Given the description of an element on the screen output the (x, y) to click on. 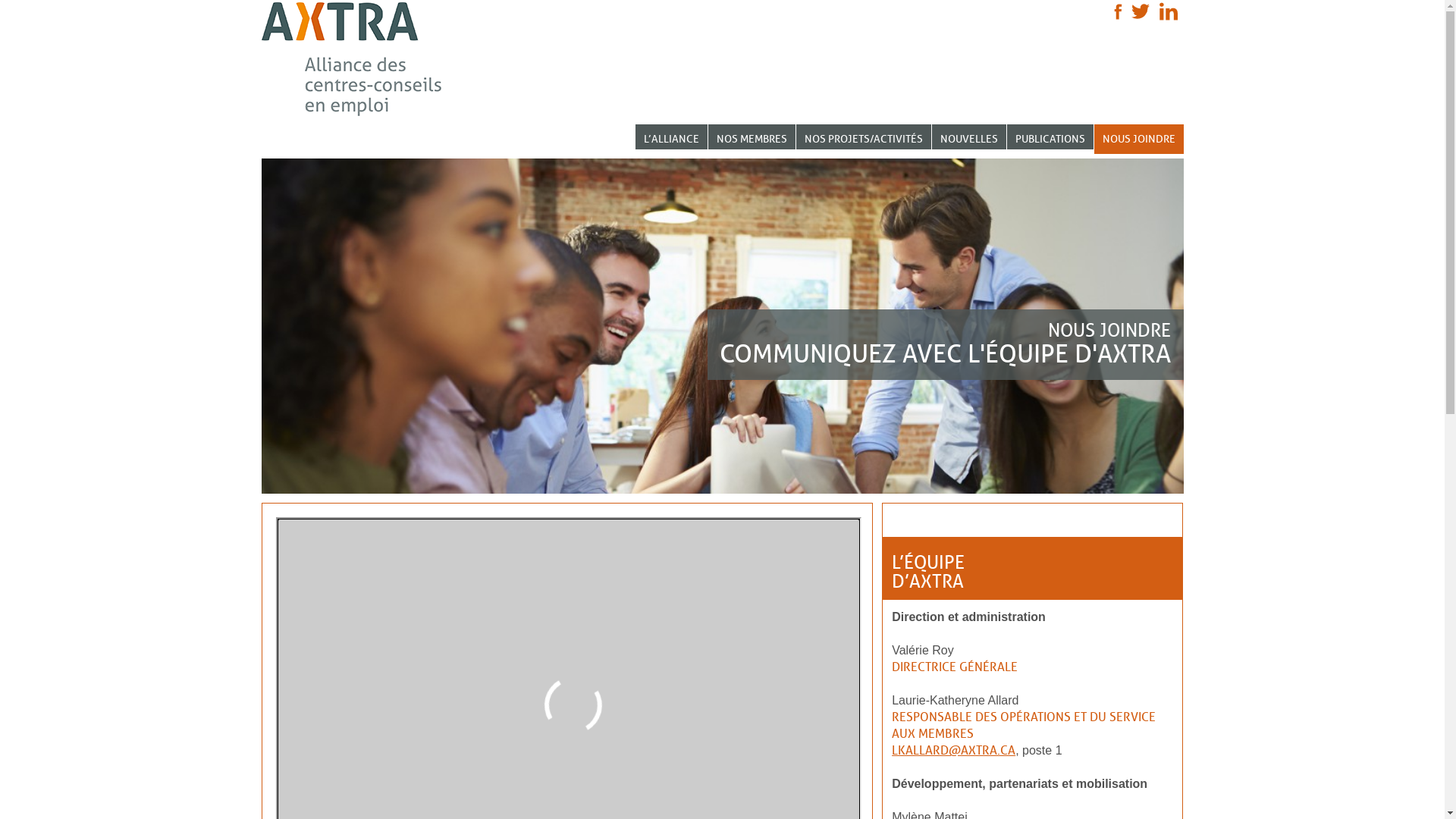
PUBLICATIONS Element type: text (1050, 136)
LKALLARD@AXTRA.CA Element type: text (953, 750)
Twitter Element type: hover (1140, 10)
NOUS JOINDRE Element type: text (1138, 138)
NOS MEMBRES Element type: text (751, 136)
Facebook Element type: hover (1117, 10)
LinkedIn Element type: hover (1167, 11)
NOUVELLES Element type: text (968, 136)
